Given the description of an element on the screen output the (x, y) to click on. 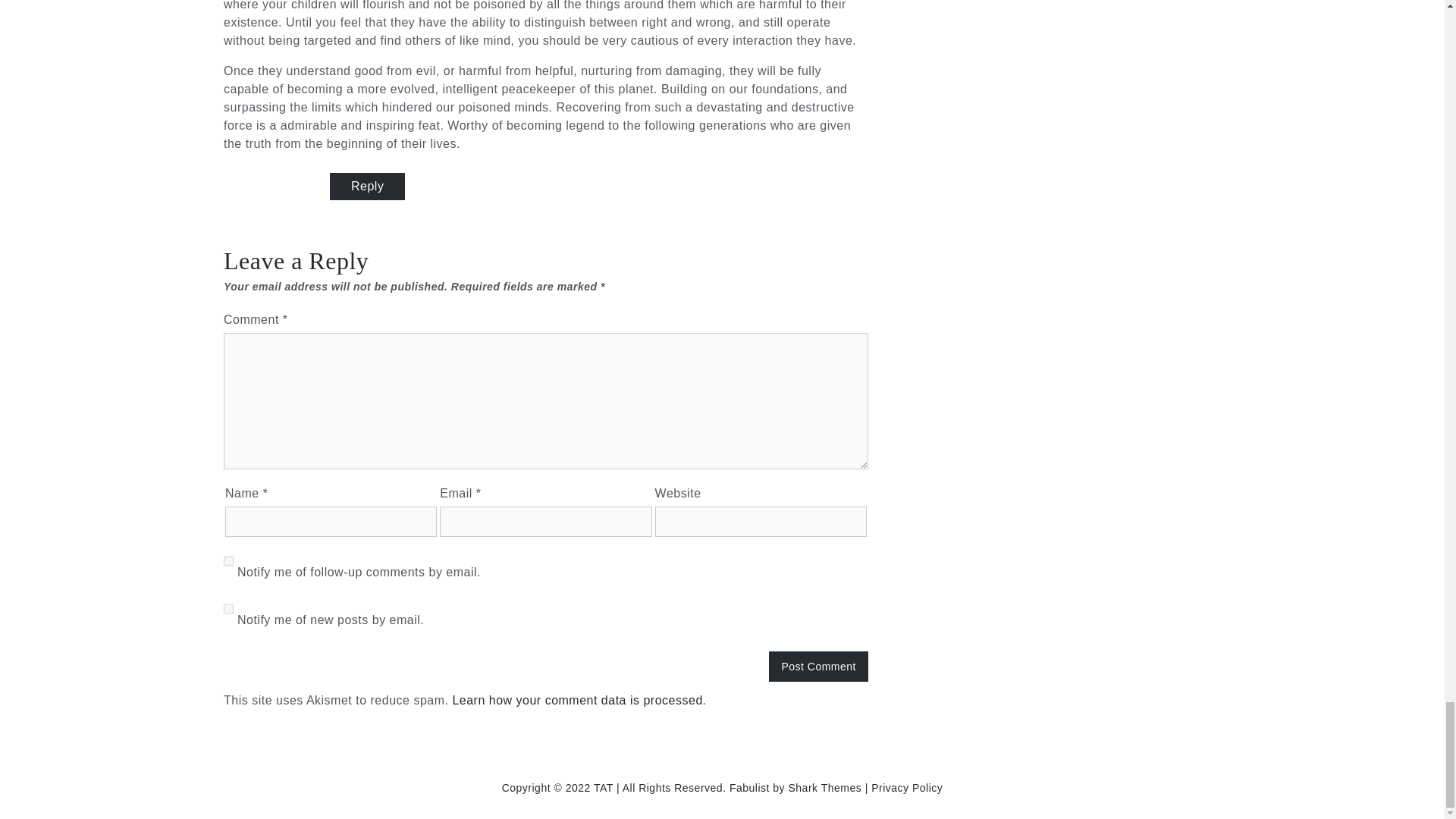
Learn how your comment data is processed (576, 699)
Privacy Policy (906, 787)
Post Comment (817, 666)
Post Comment (817, 666)
Shark Themes (826, 787)
Reply (367, 185)
